Given the description of an element on the screen output the (x, y) to click on. 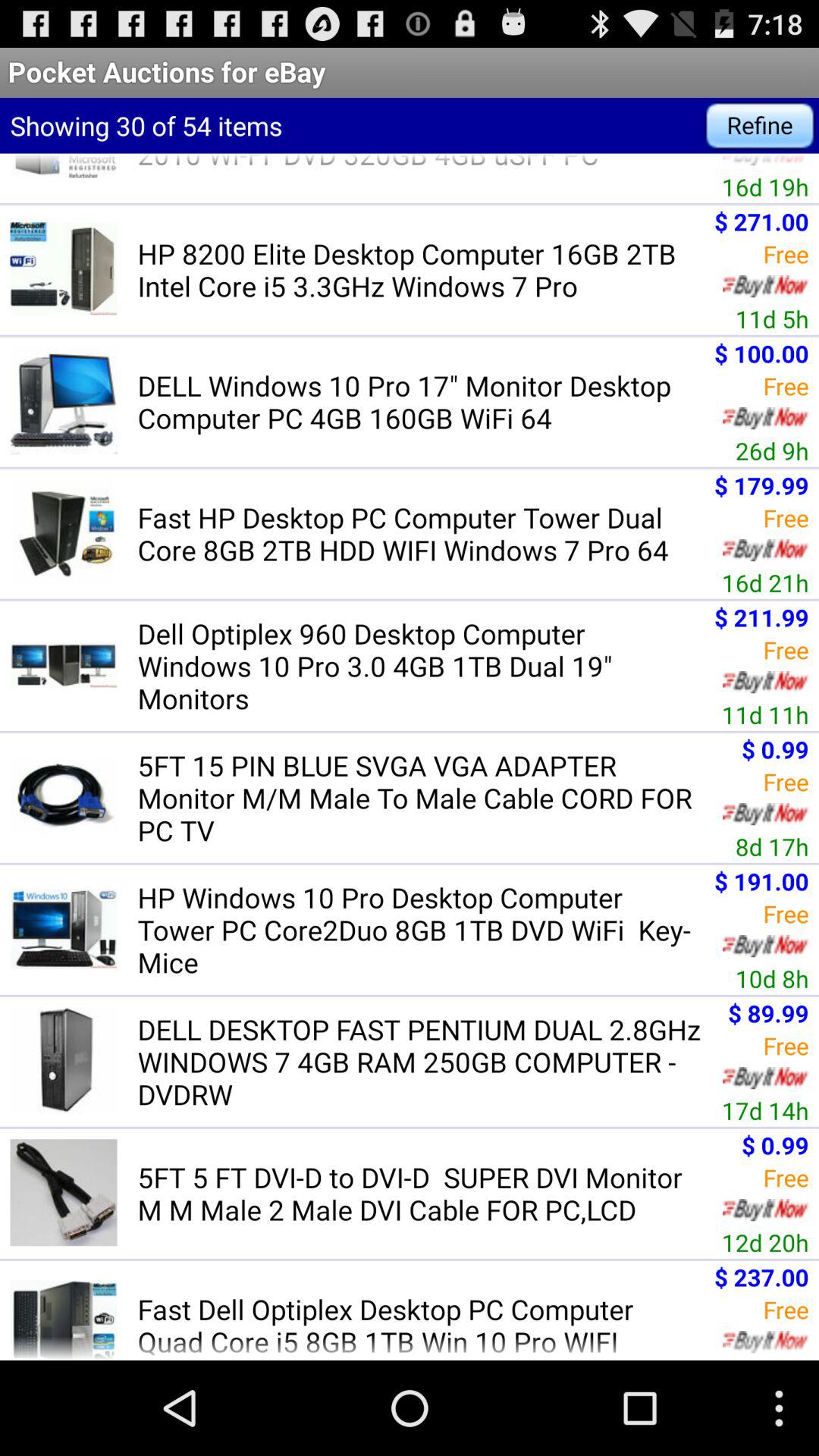
open app next to the 5ft 5 ft (764, 1242)
